Given the description of an element on the screen output the (x, y) to click on. 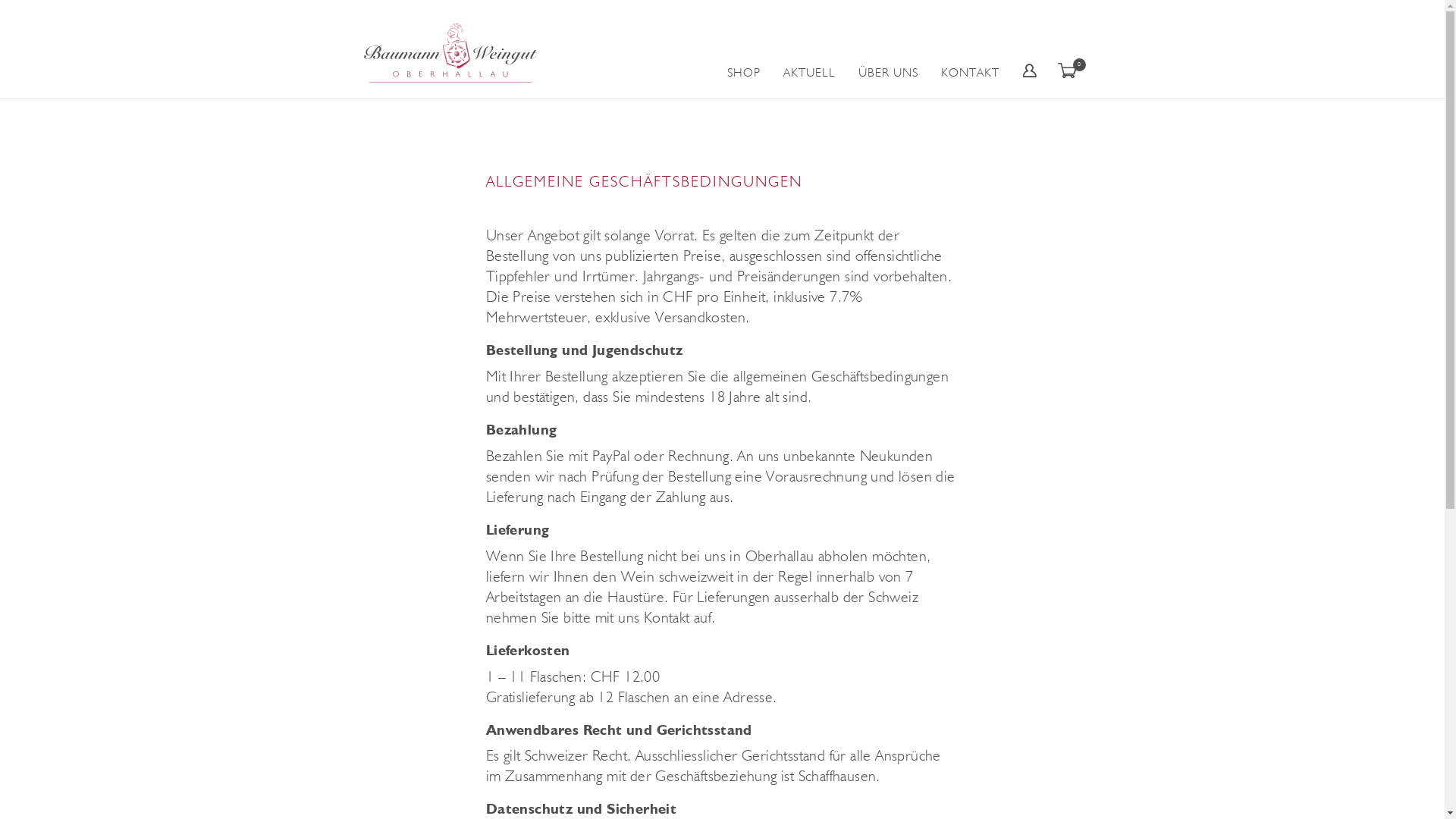
Warenkorb Element type: text (1068, 41)
AKTUELL Element type: text (809, 51)
Baumann Weingut Element type: text (450, 52)
Benutzerkonto Element type: text (1029, 41)
0 Element type: text (1079, 64)
KONTAKT Element type: text (969, 51)
SHOP Element type: text (743, 51)
